Given the description of an element on the screen output the (x, y) to click on. 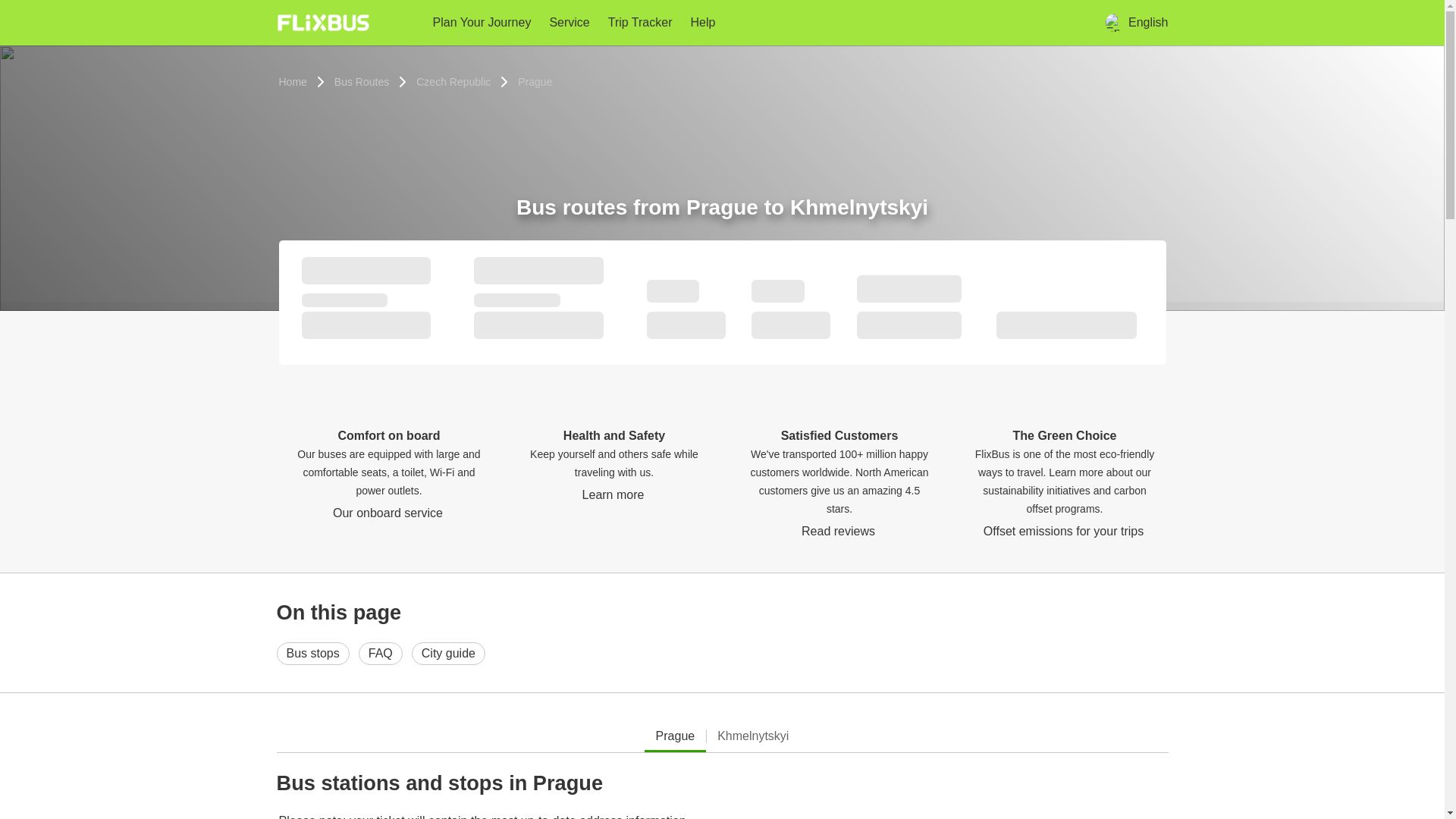
Learn more (613, 494)
Prague (675, 735)
Prague (534, 81)
Plan Your Journey (481, 22)
City guide (448, 653)
FAQ (380, 653)
Read reviews (838, 531)
Trip Tracker (639, 22)
Offset emissions for your trips (1064, 531)
Home (292, 81)
English (1136, 22)
Bus stops (312, 653)
Bus Routes (361, 81)
Bus Routes (361, 81)
Khmelnytskyi (752, 735)
